Given the description of an element on the screen output the (x, y) to click on. 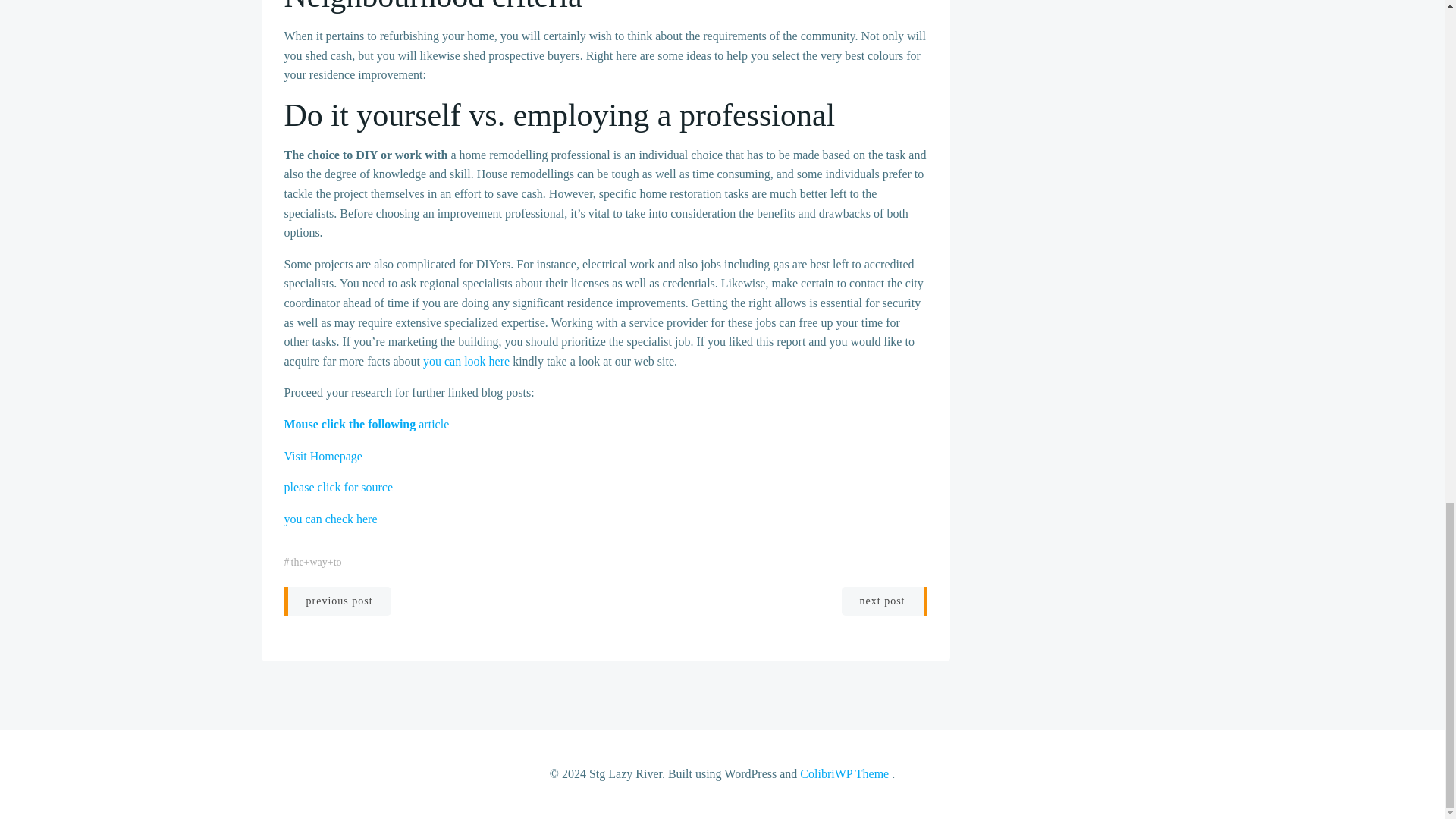
you can look here (466, 360)
Mouse click the following article (365, 423)
next post (884, 601)
previous post (336, 601)
you can check here (330, 518)
please click for source (337, 486)
Visit Homepage (322, 455)
